Given the description of an element on the screen output the (x, y) to click on. 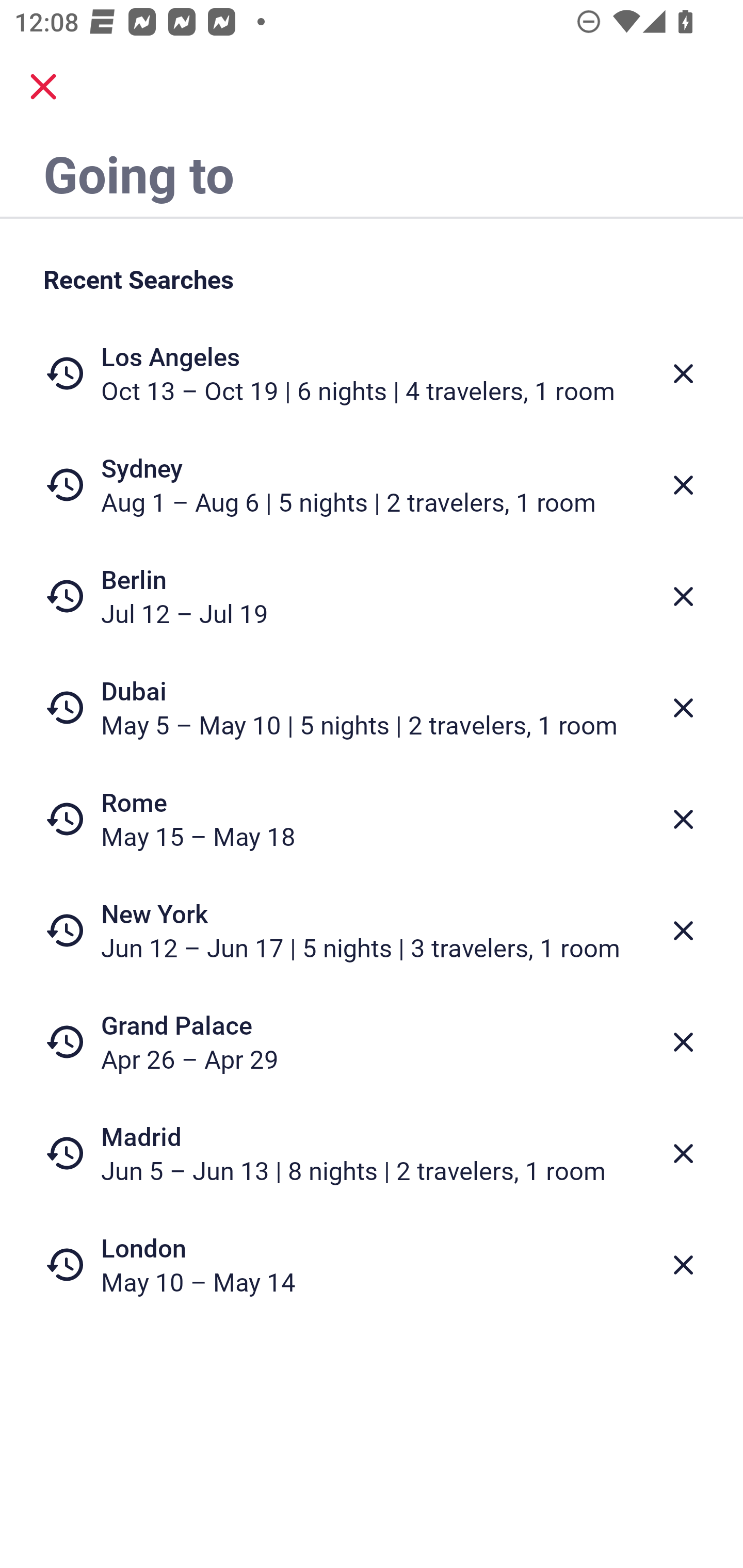
close. (43, 86)
Delete from recent searches (683, 373)
Delete from recent searches (683, 485)
Berlin Jul 12 – Jul 19 (371, 596)
Delete from recent searches (683, 596)
Delete from recent searches (683, 707)
Rome May 15 – May 18 (371, 818)
Delete from recent searches (683, 819)
Delete from recent searches (683, 930)
Grand Palace Apr 26 – Apr 29 (371, 1041)
Delete from recent searches (683, 1041)
Delete from recent searches (683, 1153)
London May 10 – May 14 (371, 1264)
Delete from recent searches (683, 1265)
